Given the description of an element on the screen output the (x, y) to click on. 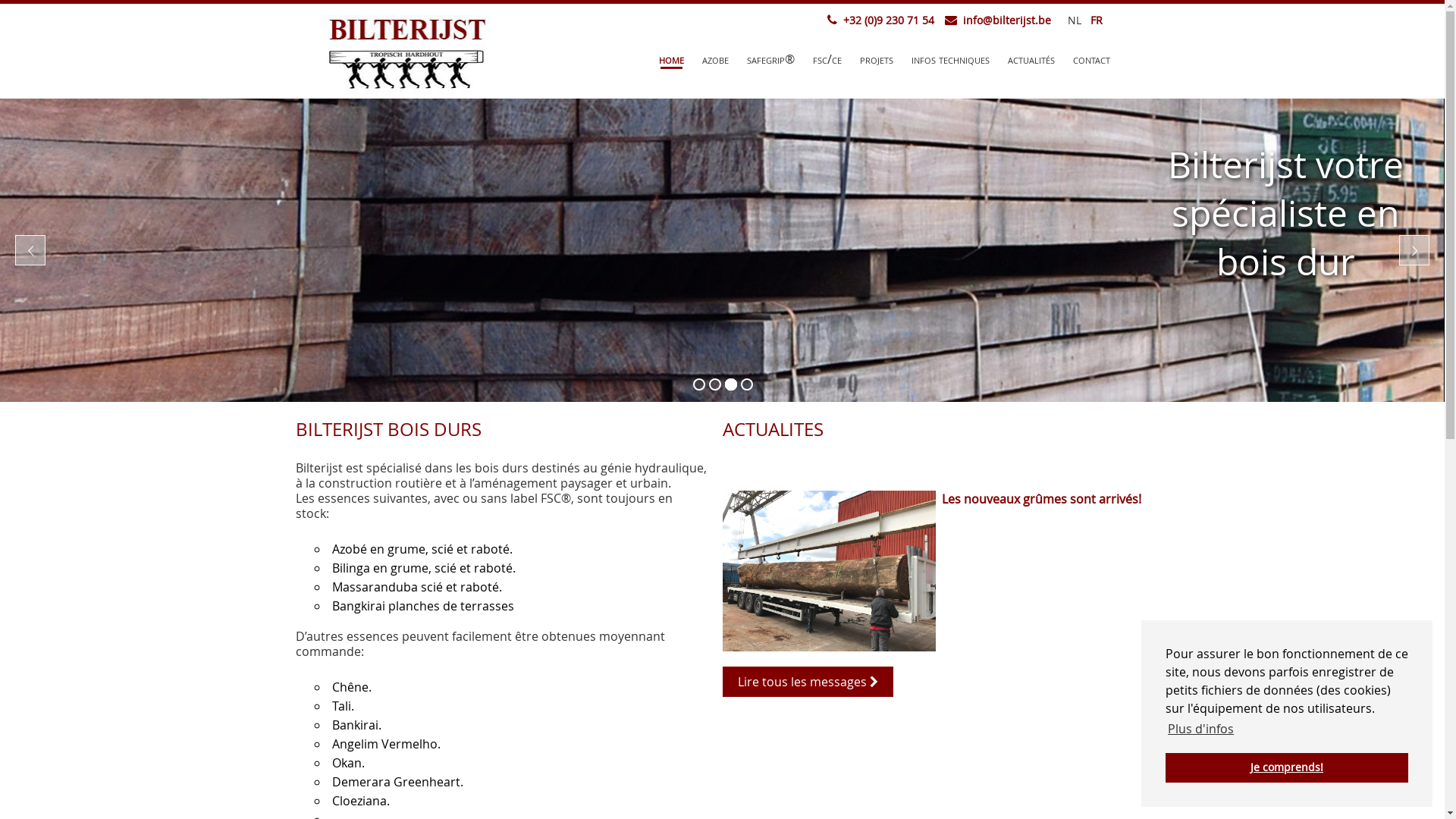
projets Element type: text (876, 59)
bilterijst Element type: hover (405, 54)
NL Element type: text (1071, 19)
Je comprends! Element type: text (1286, 767)
contact Element type: text (1091, 59)
fsc/ce Element type: text (826, 59)
+32 (0)9 230 71 54 Element type: text (885, 19)
FR Element type: text (1093, 19)
Plus d'infos Element type: text (1200, 728)
Lire tous les messages  Element type: text (806, 673)
home Element type: text (671, 59)
infos techniques Element type: text (950, 59)
info@bilterijst.be Element type: text (1004, 19)
azobe Element type: text (715, 59)
